Given the description of an element on the screen output the (x, y) to click on. 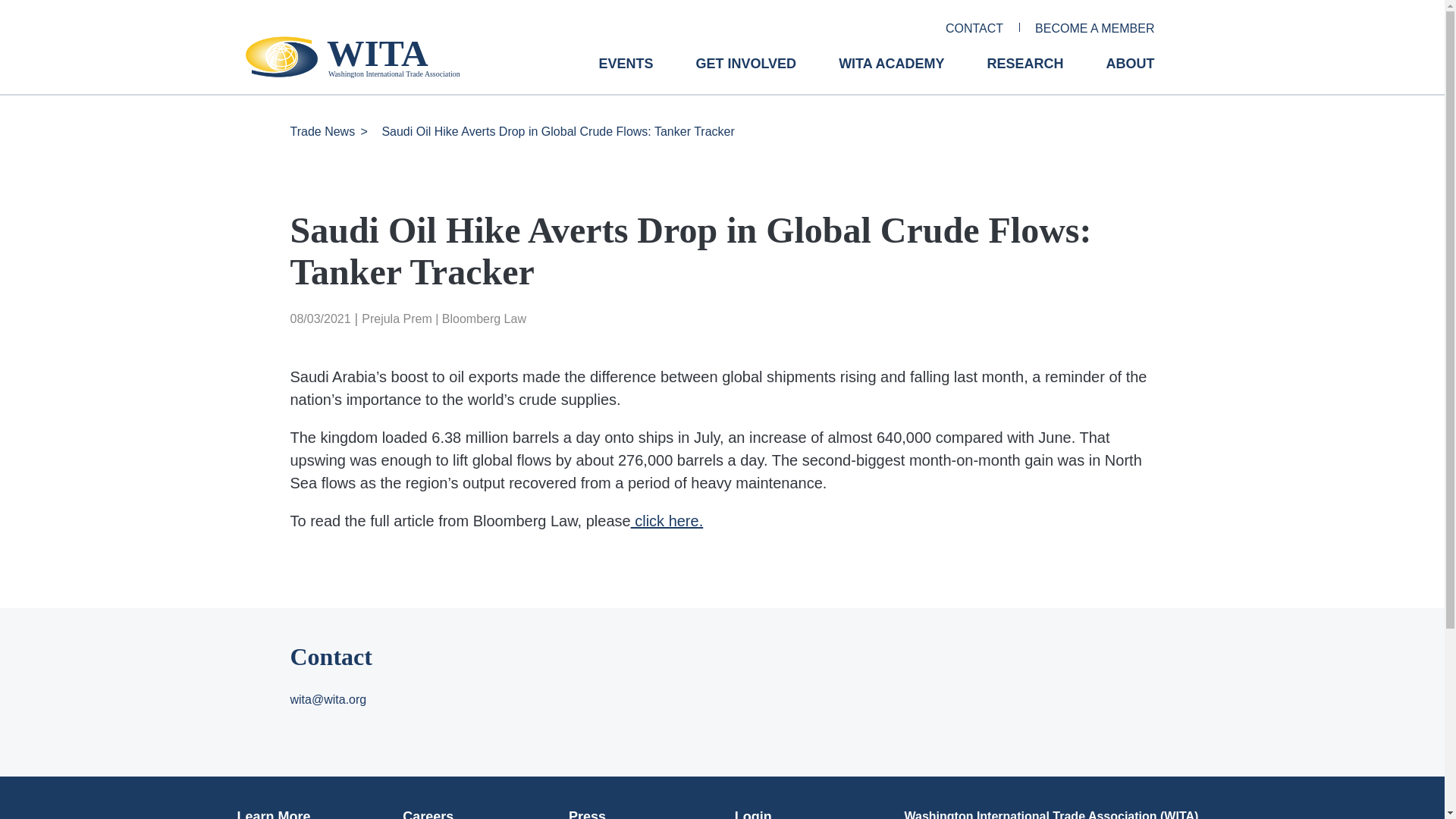
ABOUT (1129, 75)
Trade News (322, 131)
BECOME A MEMBER (1094, 28)
GET INVOLVED (745, 75)
Search (19, 6)
WITA ACADEMY (890, 75)
CONTACT (973, 28)
click here. (666, 520)
EVENTS (625, 75)
